Given the description of an element on the screen output the (x, y) to click on. 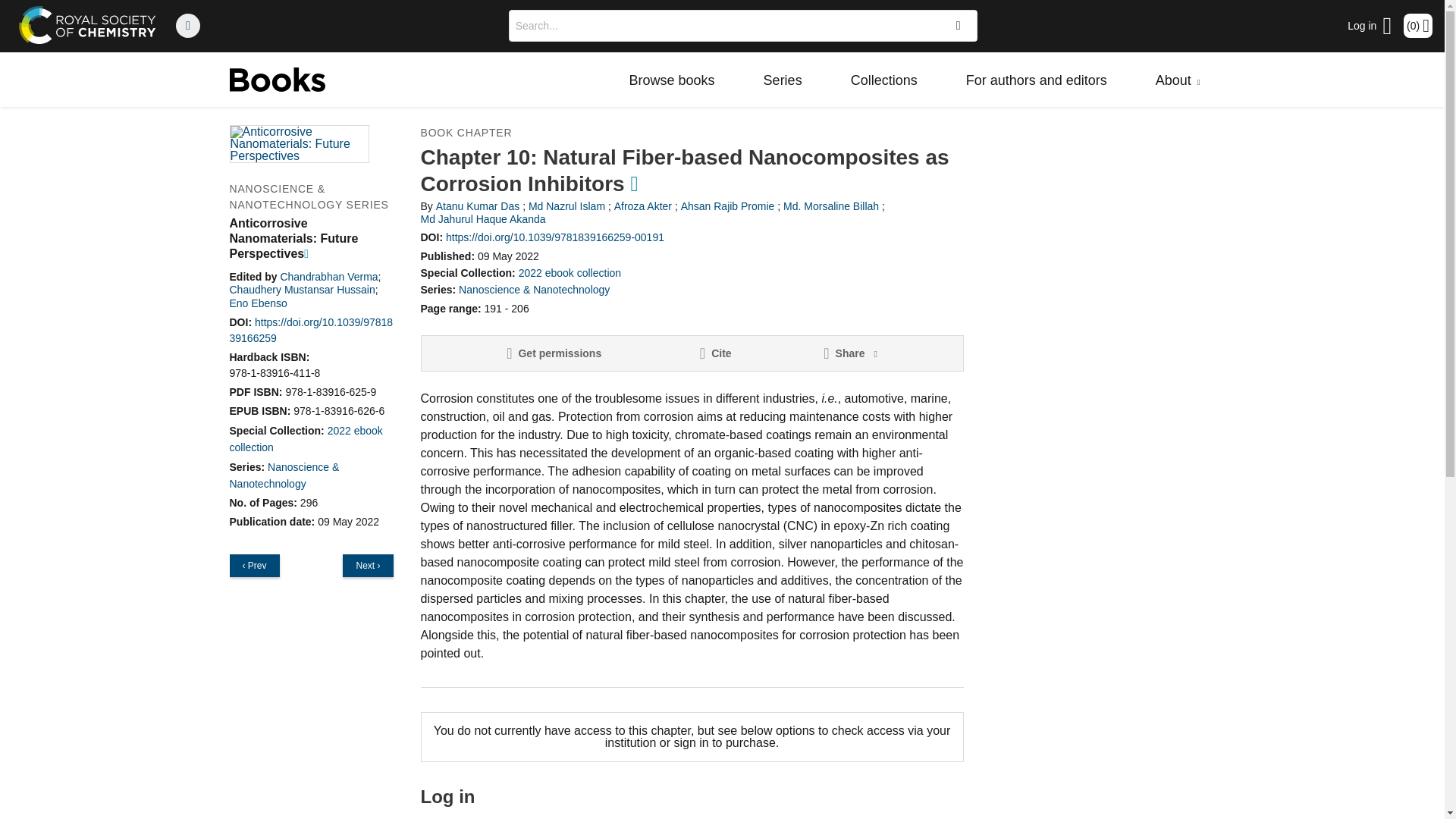
Chandrabhan Verma (328, 276)
Browse books (672, 79)
Log in (1369, 25)
search input (721, 25)
Collections (884, 79)
About (1177, 79)
For authors and editors (1036, 79)
Chaudhery Mustansar Hussain (301, 289)
Series (782, 79)
